Given the description of an element on the screen output the (x, y) to click on. 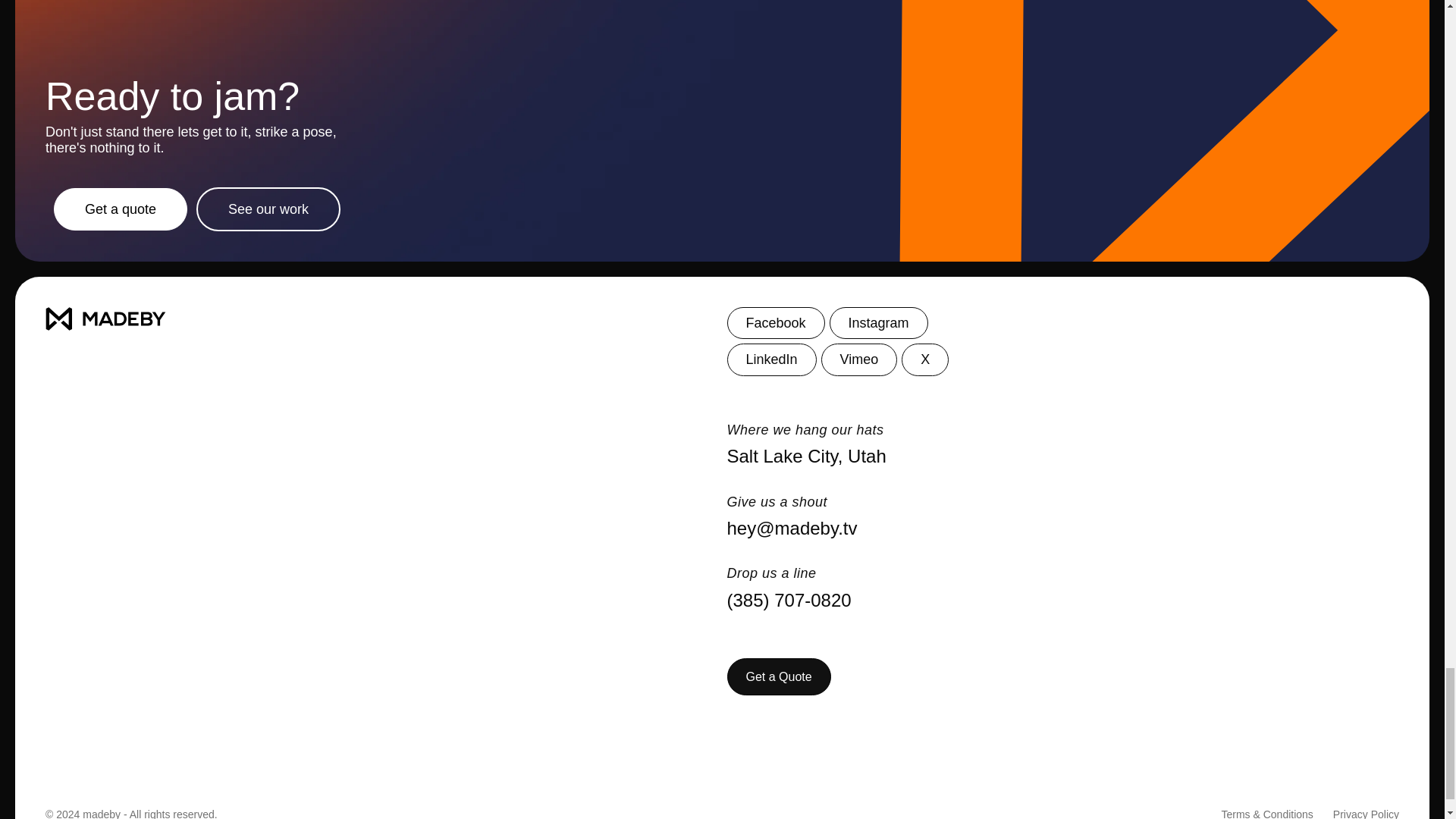
Privacy Policy (1366, 813)
Facebook (775, 323)
Vimeo (859, 359)
Instagram (878, 323)
X (925, 359)
LinkedIn (770, 359)
Get a quote (120, 209)
Get a Quote (777, 676)
Salt Lake City, Utah (1062, 456)
See our work (268, 208)
